Given the description of an element on the screen output the (x, y) to click on. 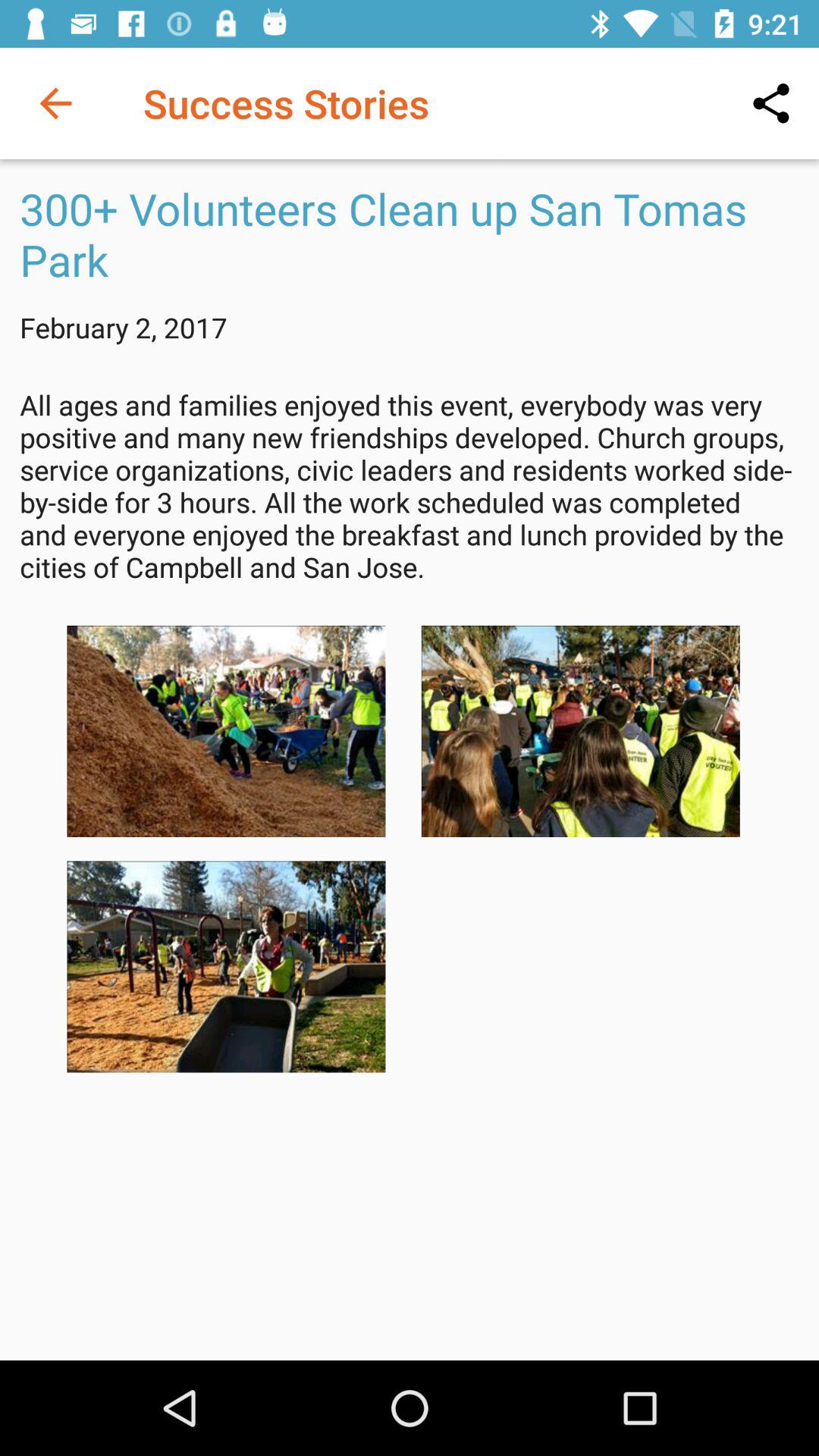
tap item at the top right corner (771, 103)
